Given the description of an element on the screen output the (x, y) to click on. 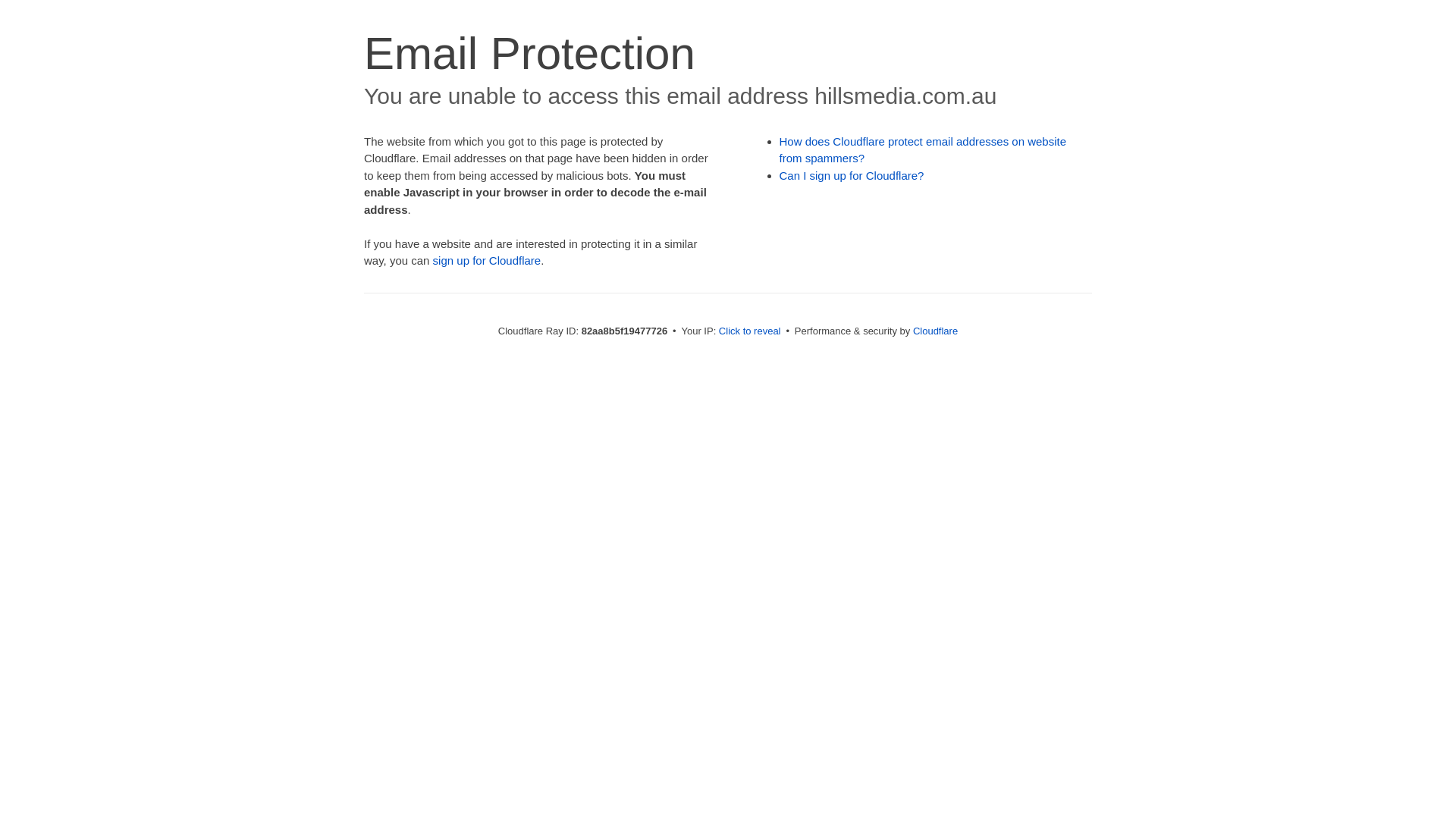
sign up for Cloudflare Element type: text (487, 260)
Cloudflare Element type: text (935, 330)
Can I sign up for Cloudflare? Element type: text (851, 175)
Click to reveal Element type: text (749, 330)
